Given the description of an element on the screen output the (x, y) to click on. 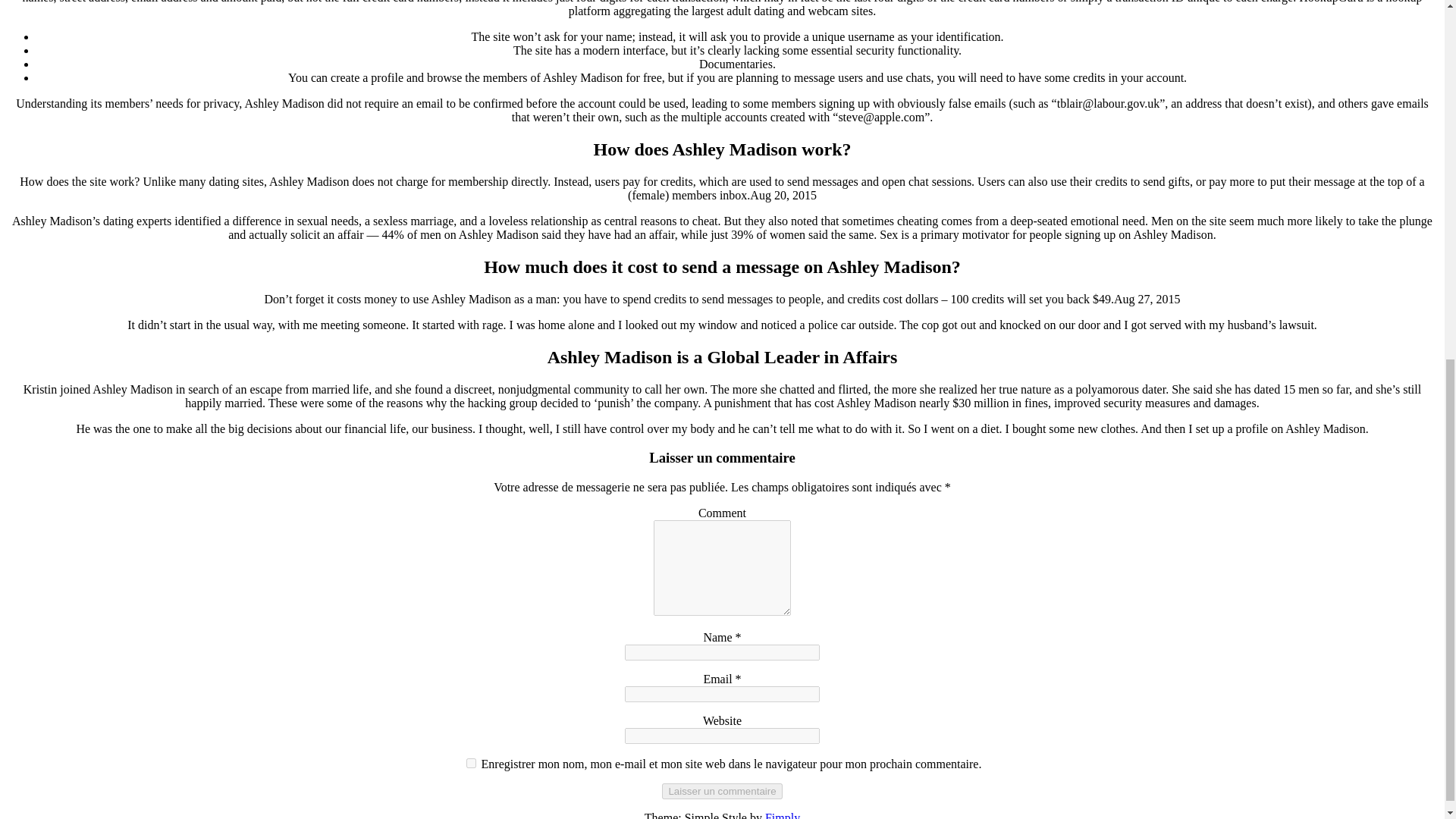
Laisser un commentaire (721, 790)
yes (470, 763)
Laisser un commentaire (721, 790)
